Given the description of an element on the screen output the (x, y) to click on. 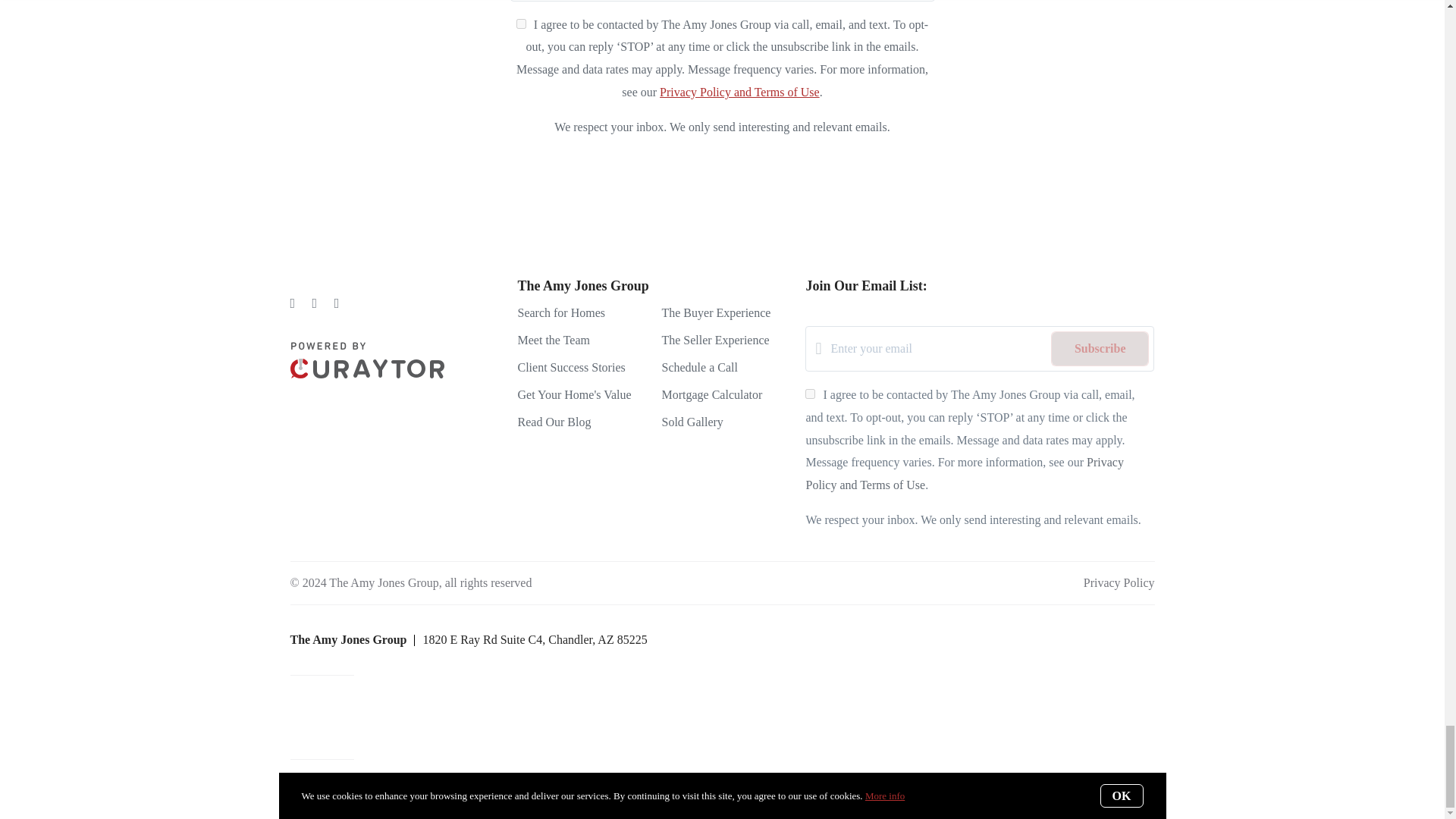
on (520, 23)
on (810, 393)
curaytor-horizontal (366, 360)
